Given the description of an element on the screen output the (x, y) to click on. 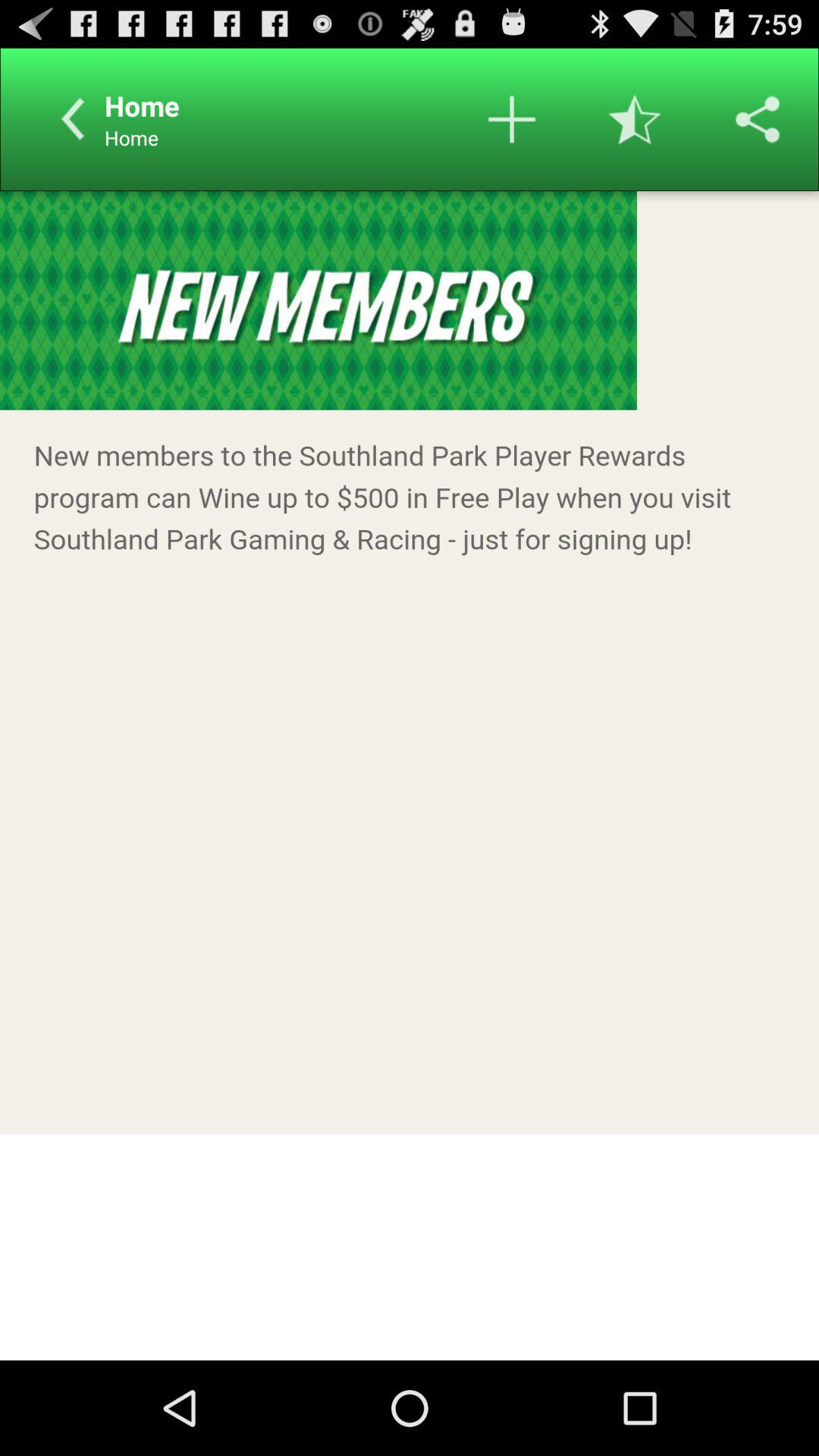
add something or add new member (511, 119)
